Given the description of an element on the screen output the (x, y) to click on. 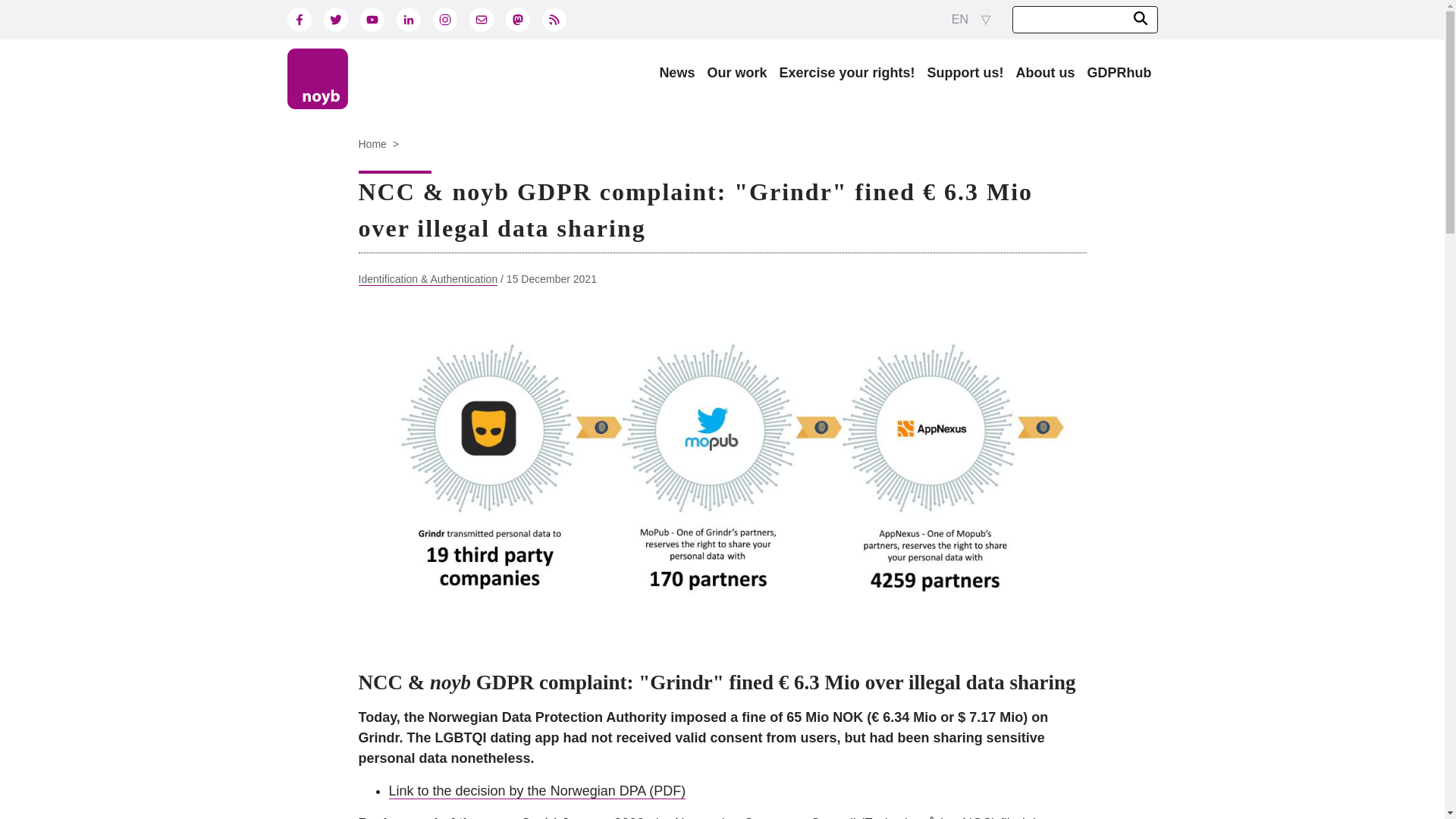
Search through all news (676, 72)
noyb topics (1045, 72)
Become a supporting member (964, 72)
Home (371, 143)
Exercise your rights! (846, 72)
our projects and cases  (736, 72)
News (676, 72)
Support us! (964, 72)
GDPRhub (1119, 72)
Search (1139, 17)
EN (971, 19)
